Given the description of an element on the screen output the (x, y) to click on. 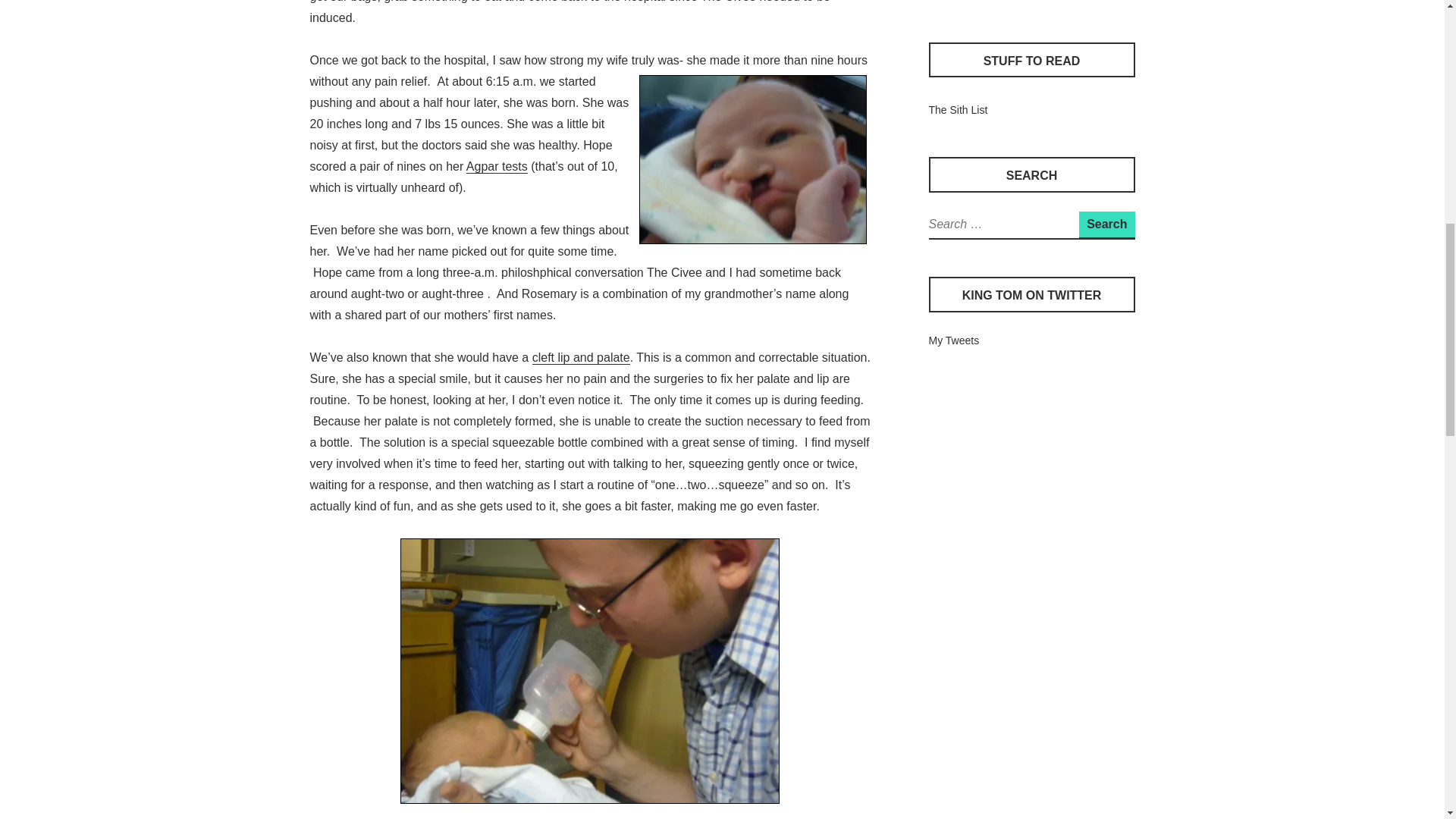
Search (1106, 224)
Baby Hope (752, 159)
Search (1106, 224)
The Sith List, Fool! (957, 110)
Search (1106, 224)
cleft lip and palate (581, 357)
Feeding Hope (589, 670)
My Tweets (953, 340)
The Sith List (957, 110)
Agpar tests (496, 166)
